Given the description of an element on the screen output the (x, y) to click on. 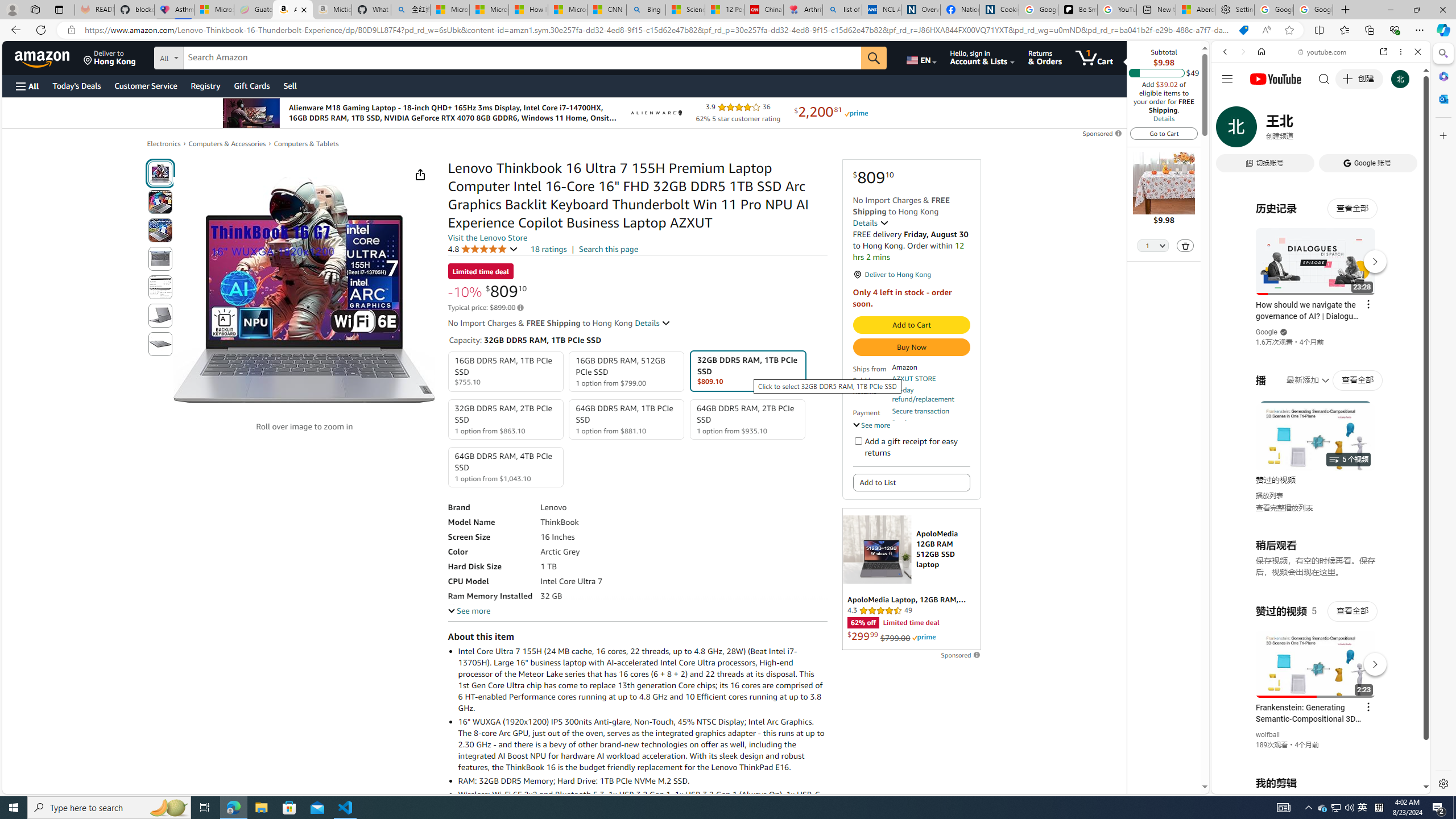
Registry (205, 85)
Quantity Selector (1153, 246)
Today's Deals (76, 85)
Computers & Tablets (306, 143)
Go (873, 57)
You have the best price! Shopping in Microsoft Edge (1243, 29)
SEARCH TOOLS (1350, 130)
